Given the description of an element on the screen output the (x, y) to click on. 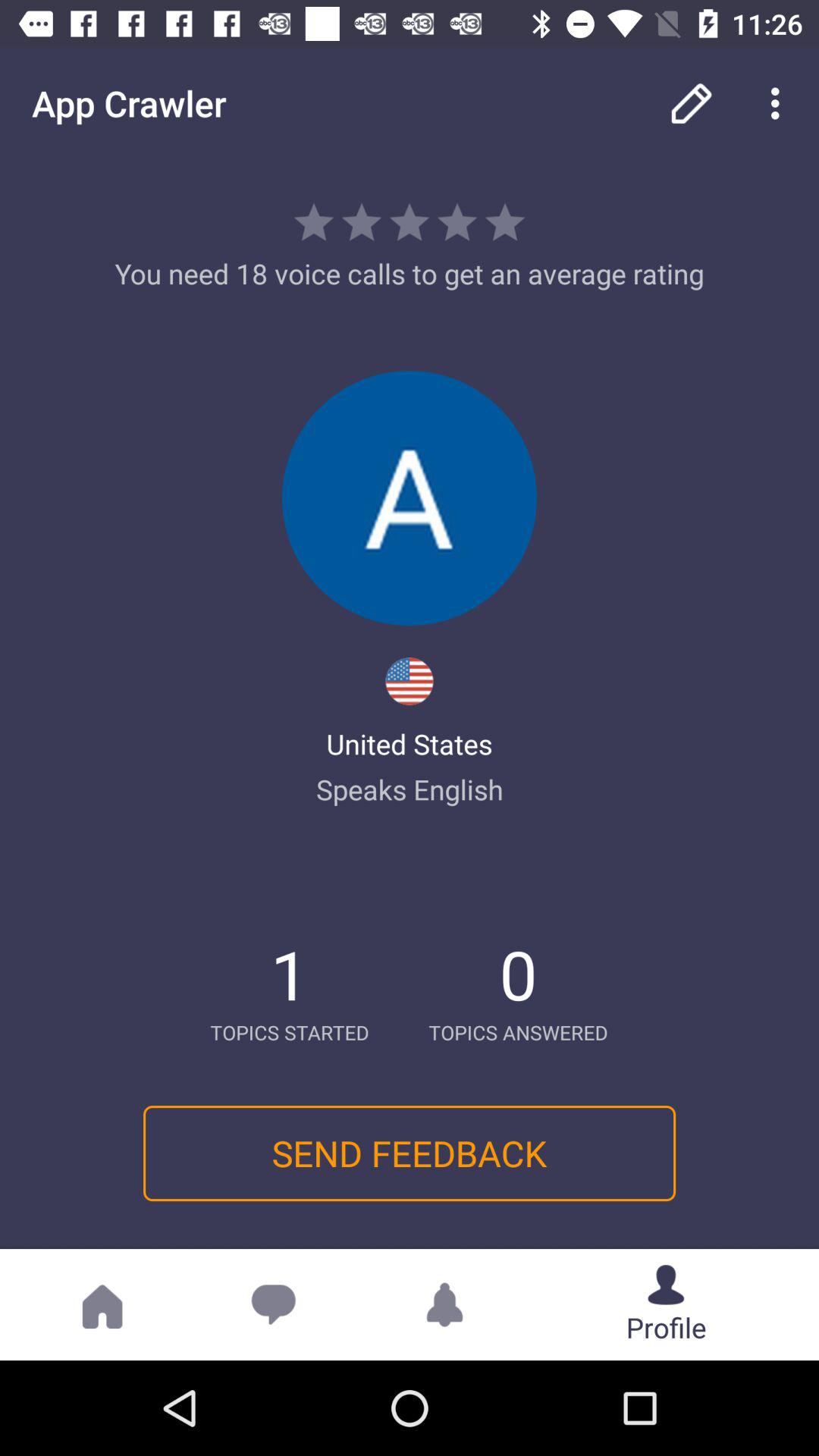
select icon below topics started icon (409, 1153)
